Given the description of an element on the screen output the (x, y) to click on. 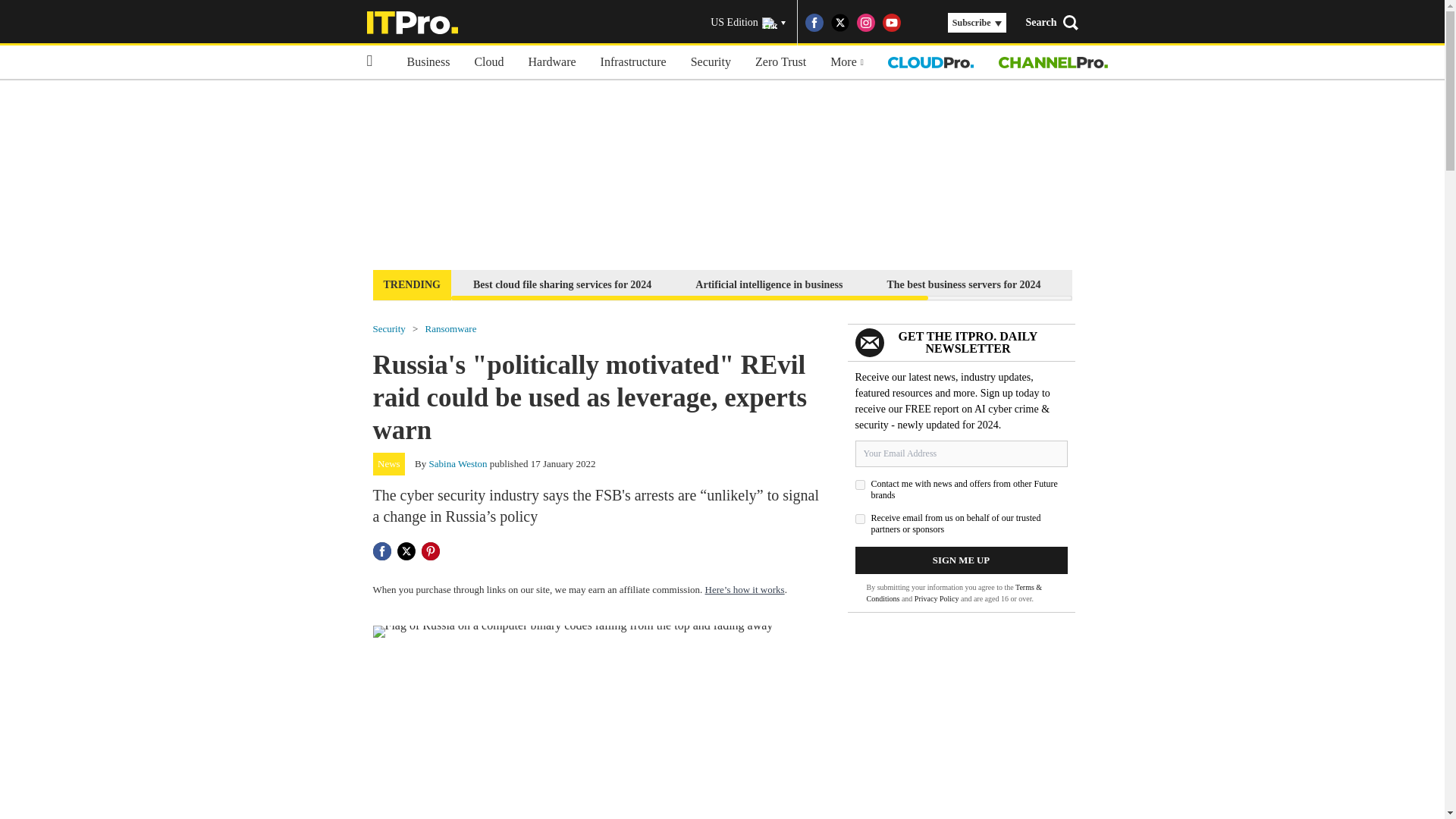
RSS (917, 22)
on (860, 484)
Security (710, 61)
US Edition (748, 22)
Best cloud file sharing services for 2024 (561, 284)
Hardware (552, 61)
Subscribe to the ITPro newsletter (1161, 284)
News (389, 463)
Security (389, 327)
Sign me up (961, 560)
